Given the description of an element on the screen output the (x, y) to click on. 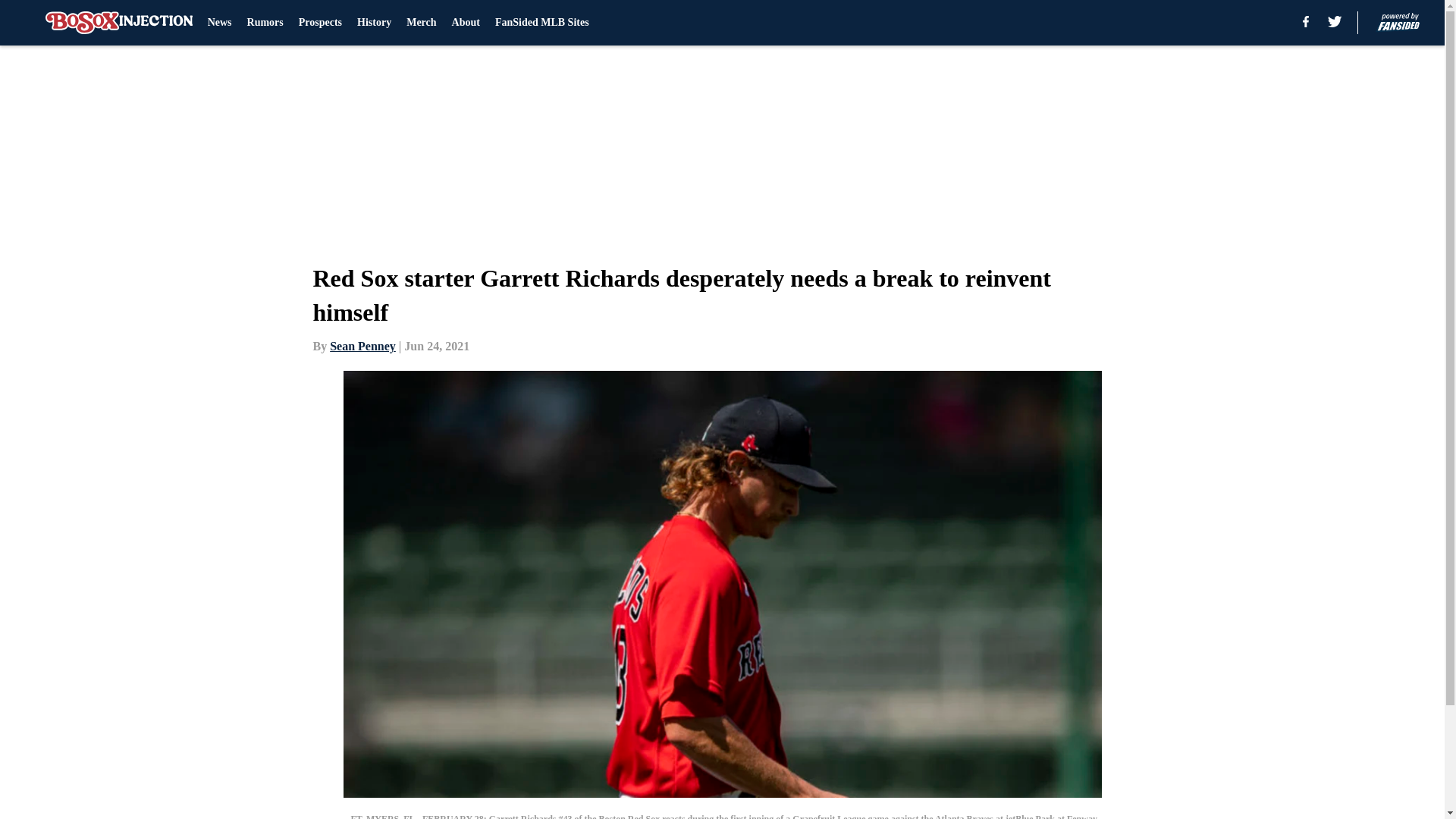
Sean Penney (363, 345)
Merch (420, 22)
History (373, 22)
Rumors (265, 22)
About (465, 22)
FanSided MLB Sites (542, 22)
News (219, 22)
Prospects (320, 22)
